Given the description of an element on the screen output the (x, y) to click on. 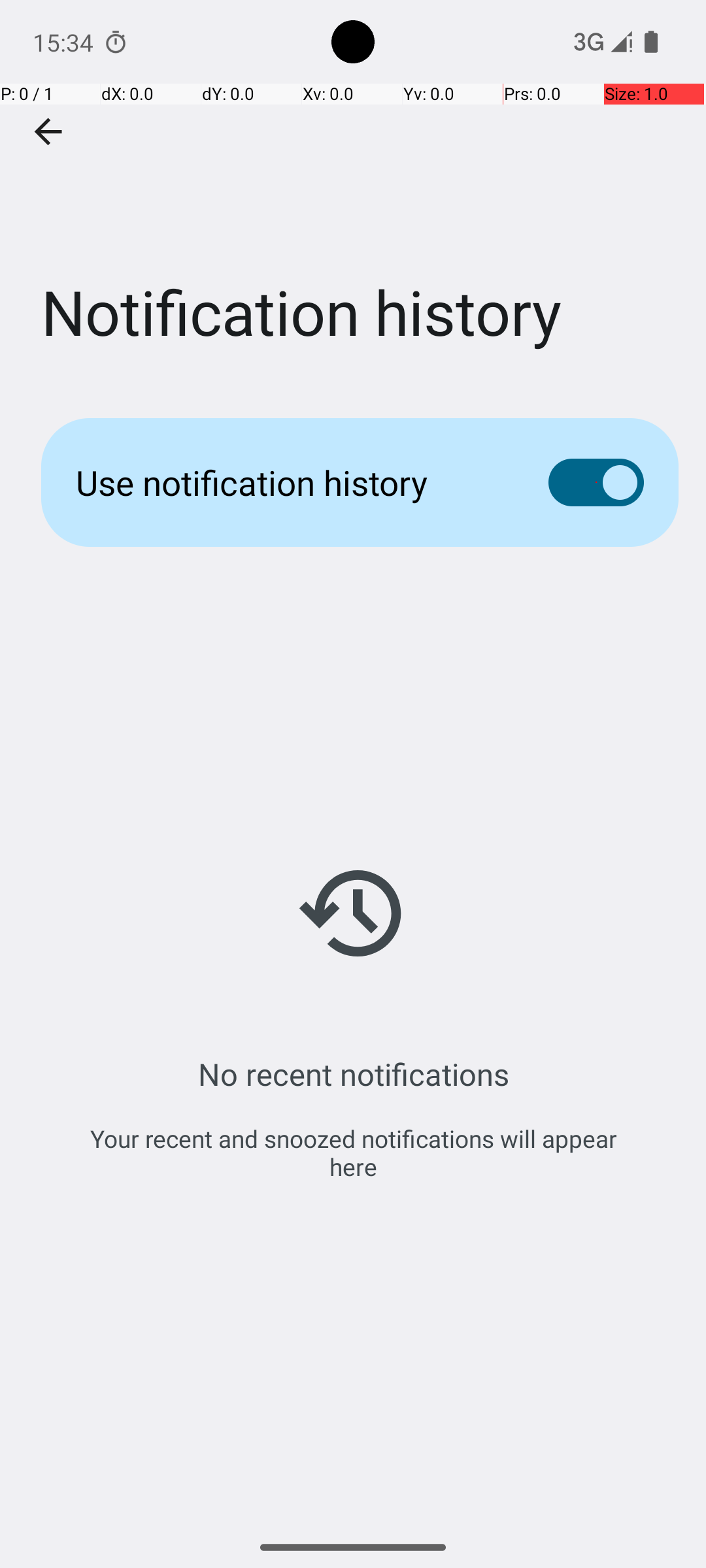
No recent notifications Element type: android.widget.TextView (352, 1073)
Your recent and snoozed notifications will appear here Element type: android.widget.TextView (352, 1152)
